Given the description of an element on the screen output the (x, y) to click on. 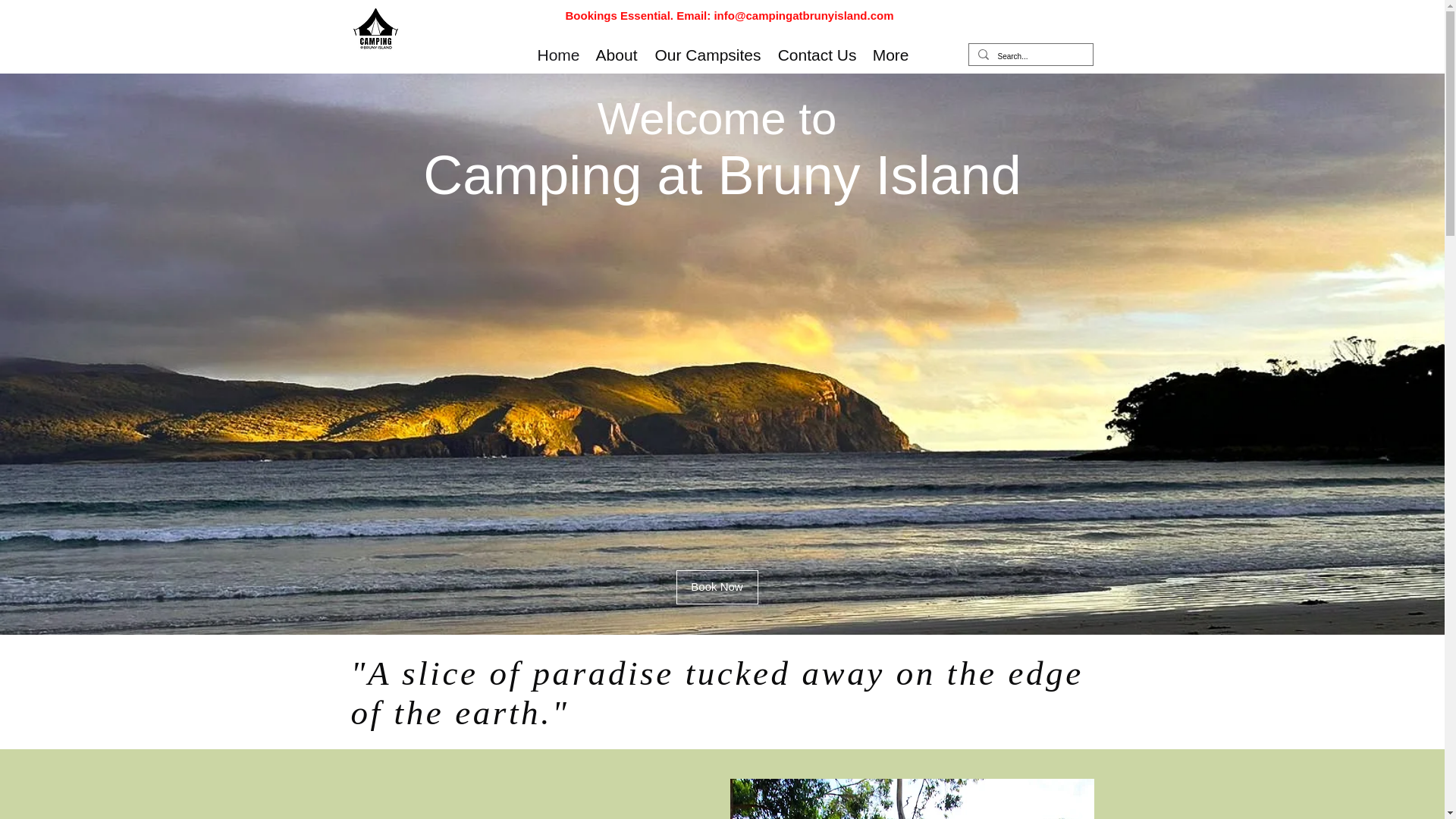
Contact Us (816, 54)
Home (558, 54)
Book Now (717, 587)
About (615, 54)
Our Campsites (706, 54)
